Given the description of an element on the screen output the (x, y) to click on. 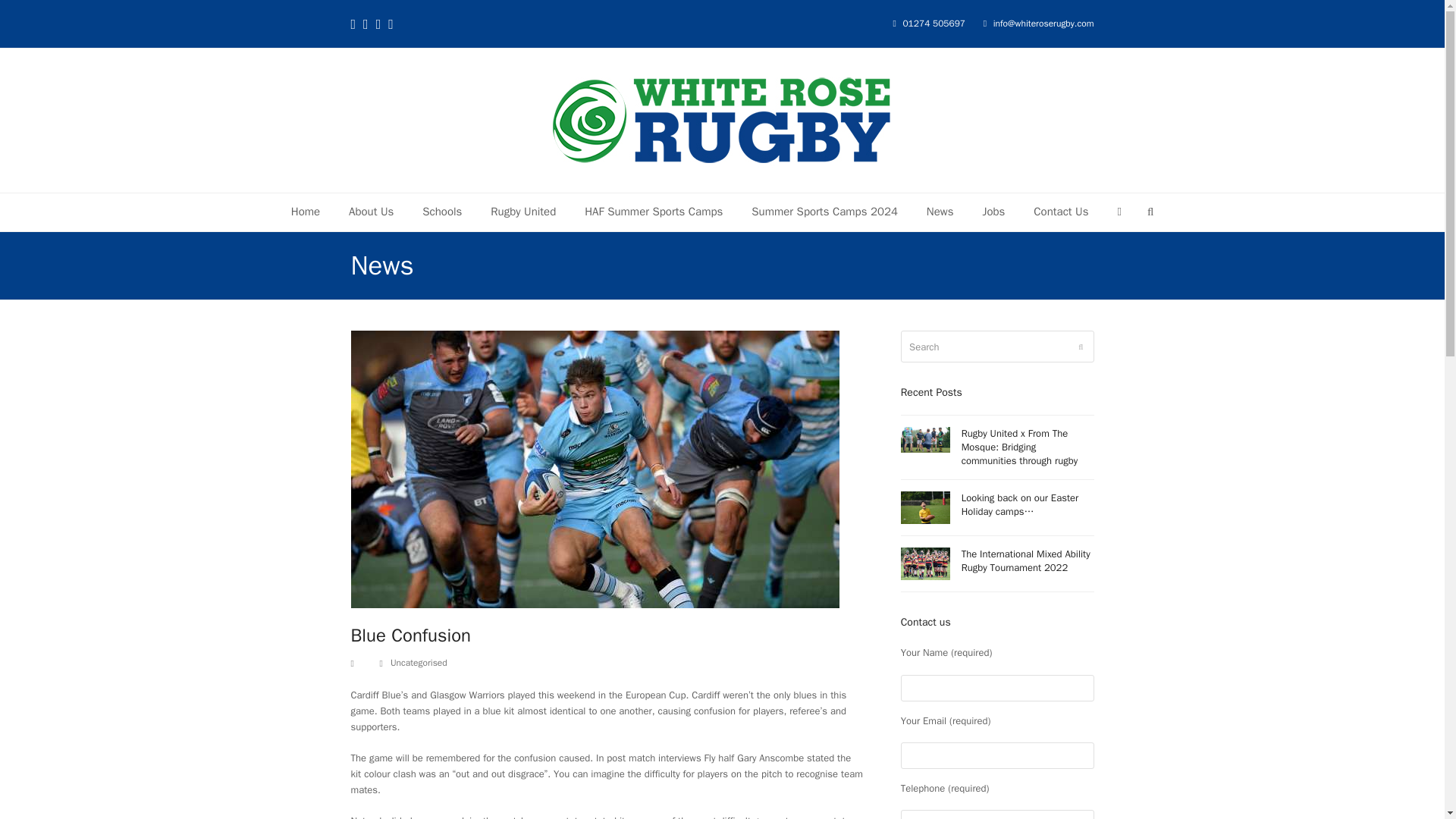
Schools (441, 211)
About Us (371, 211)
News (940, 211)
Jobs (993, 211)
Contact Us (1060, 211)
Home (305, 211)
Summer Sports Camps 2024 (824, 211)
HAF Summer Sports Camps (653, 211)
Rugby United (523, 211)
